Given the description of an element on the screen output the (x, y) to click on. 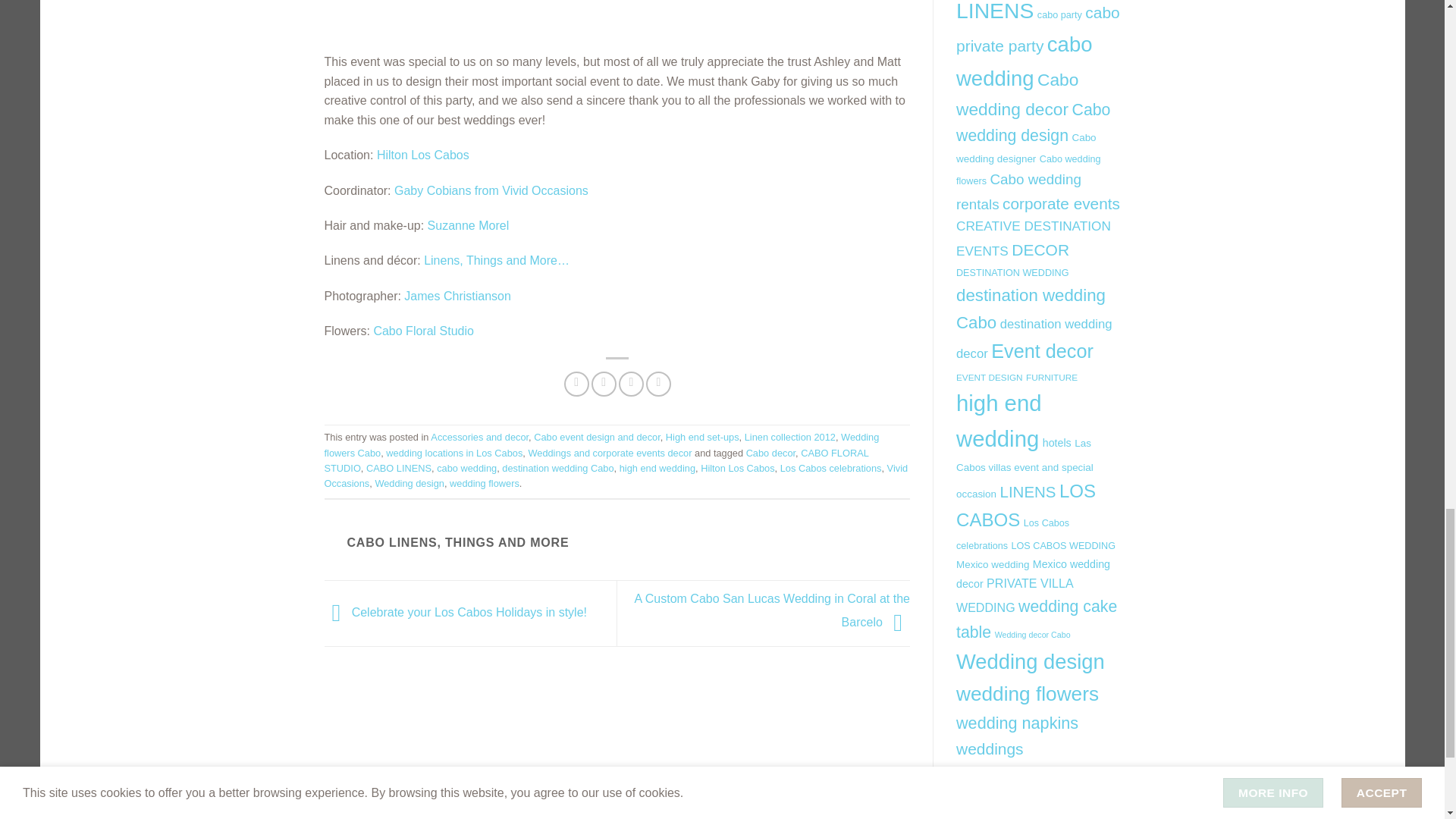
Hilton Los Cabos (422, 154)
Gaby Cobians from Vivid Occasions (491, 190)
Pin on Pinterest (658, 383)
Share on Twitter (603, 383)
Suzanne Morel (468, 225)
Share on Facebook (576, 383)
Email to a Friend (630, 383)
